Given the description of an element on the screen output the (x, y) to click on. 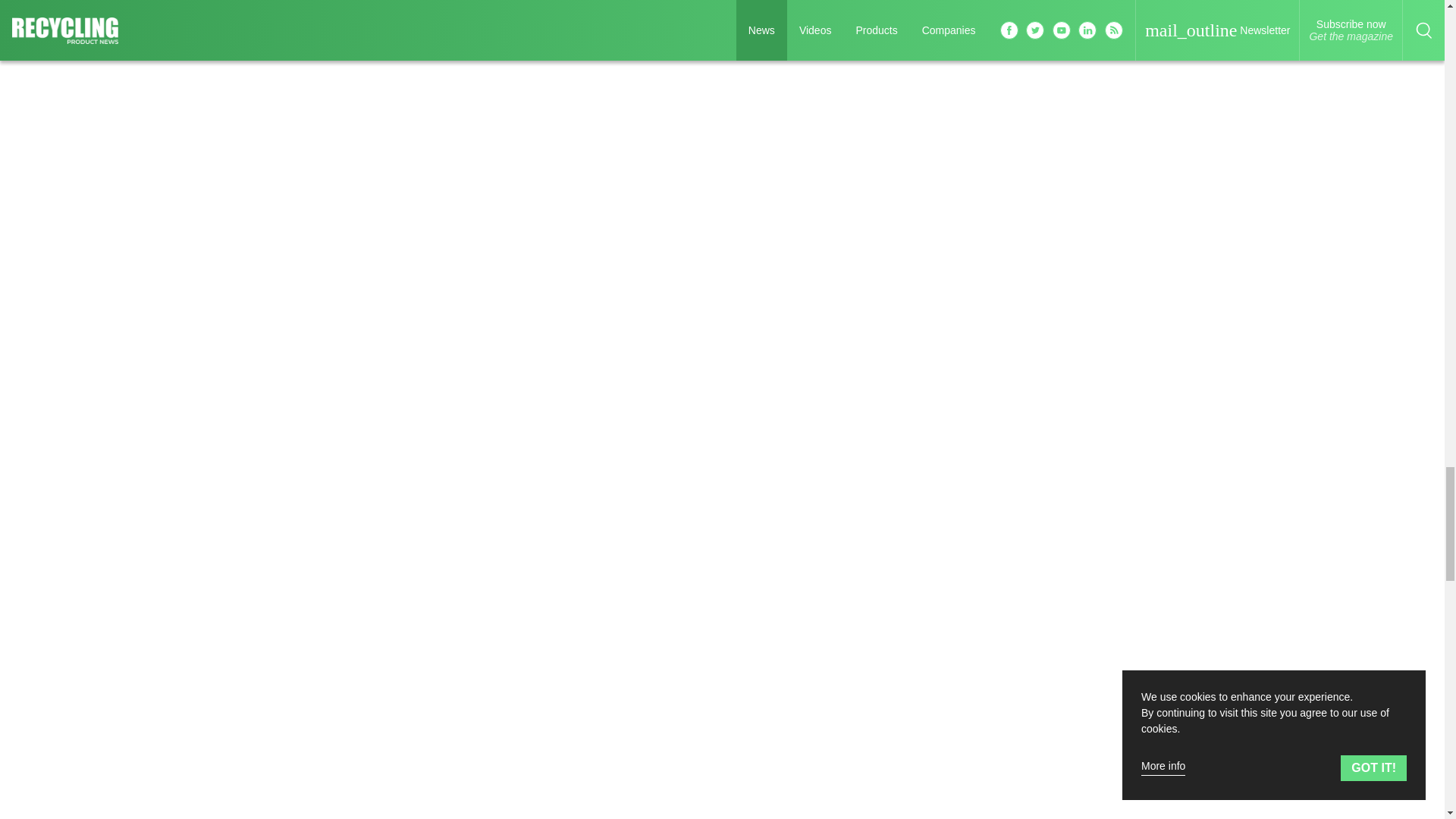
3rd party ad content (1125, 643)
